Given the description of an element on the screen output the (x, y) to click on. 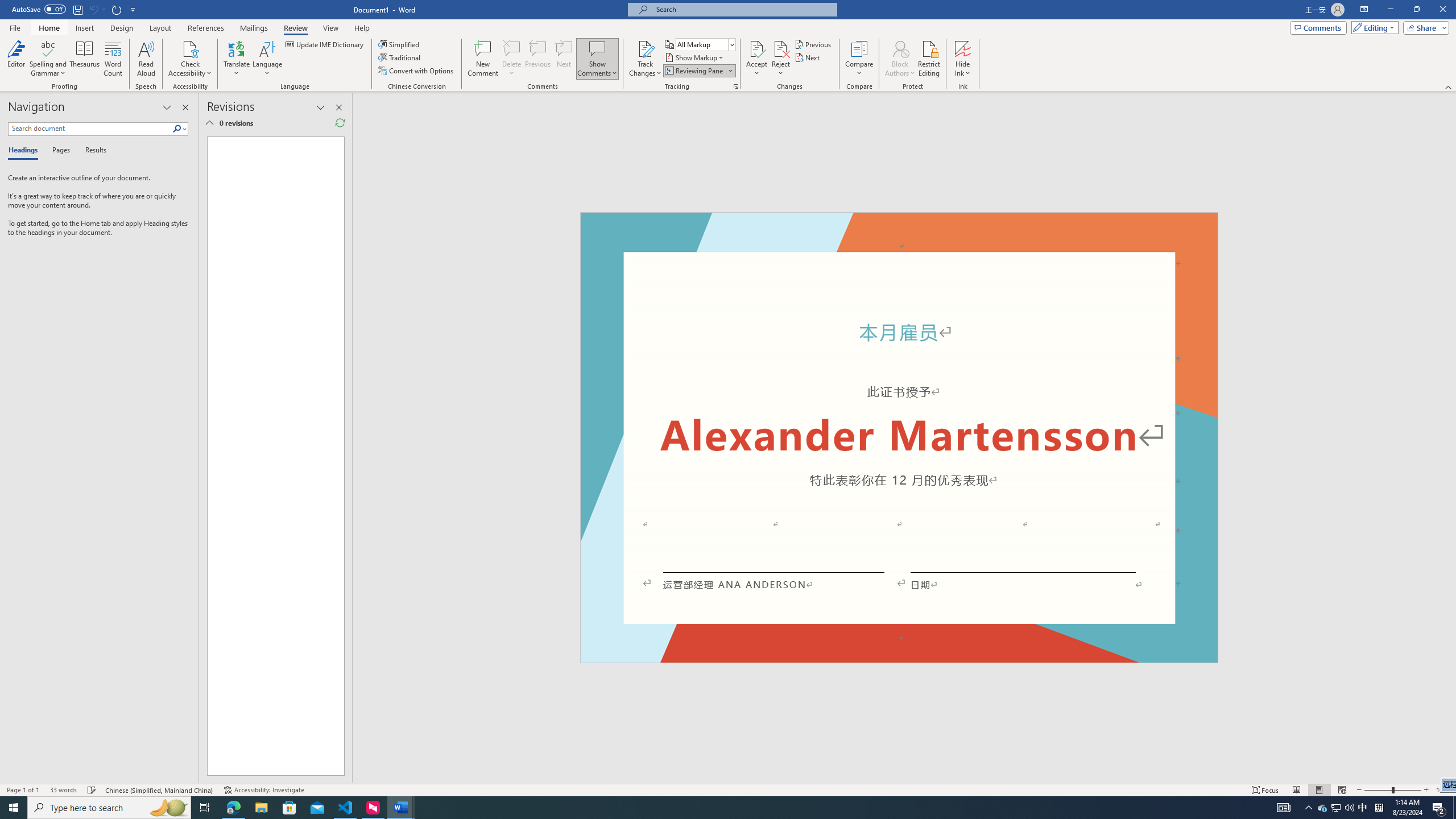
Show Comments (597, 48)
Delete (511, 48)
Class: NetUIScrollBar (1450, 437)
Update IME Dictionary... (324, 44)
Compare (859, 58)
Reject (780, 58)
Headings (25, 150)
Class: MsoCommandBar (728, 789)
